Given the description of an element on the screen output the (x, y) to click on. 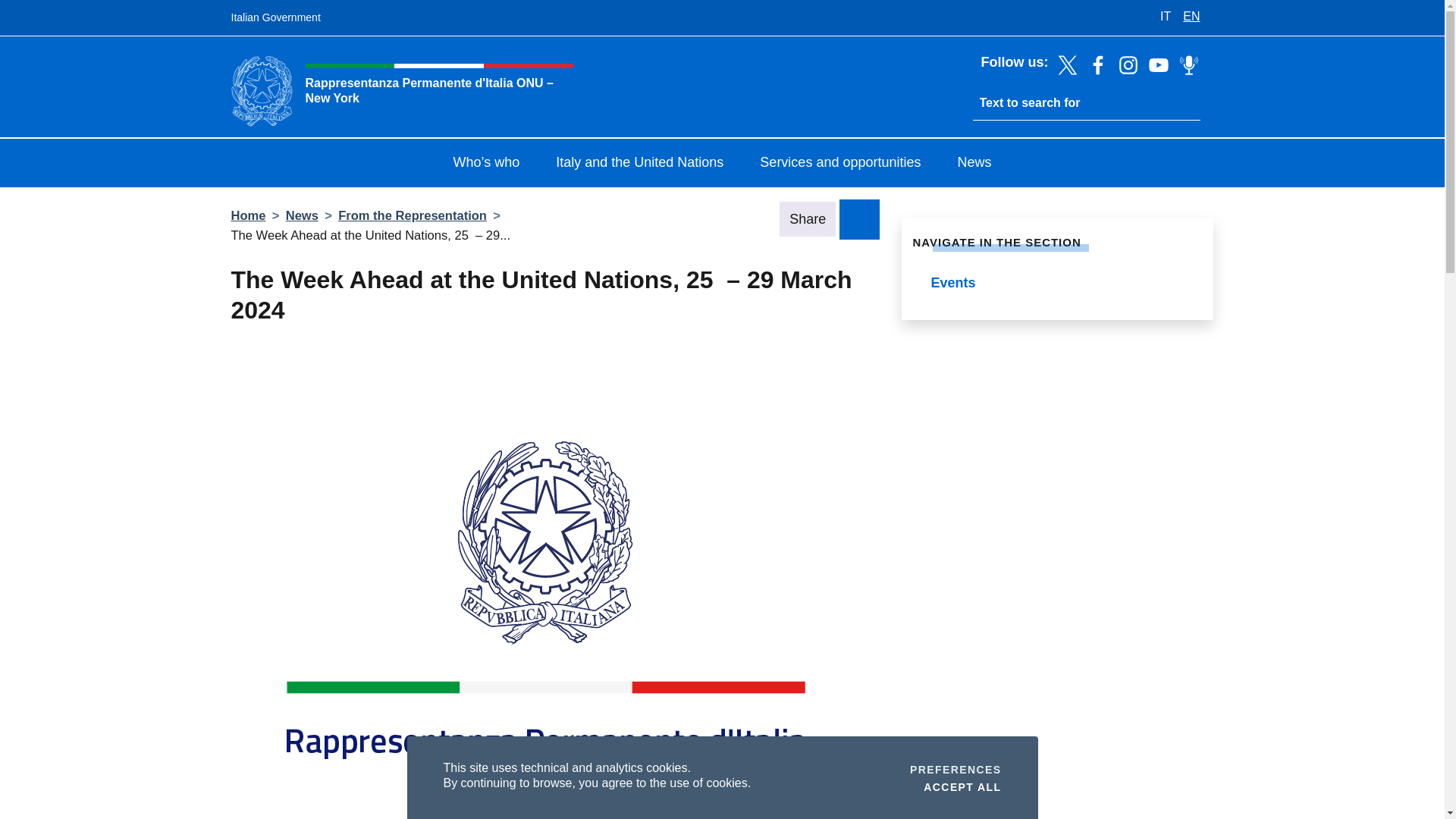
Share on Social Network (859, 218)
News (974, 163)
Italian Government (275, 18)
From the Representation (411, 215)
Events (1057, 282)
Services and opportunities (840, 163)
Home (955, 769)
Italy and the United Nations (247, 215)
Events (639, 163)
News (1057, 282)
Share on Social Network (962, 786)
